Given the description of an element on the screen output the (x, y) to click on. 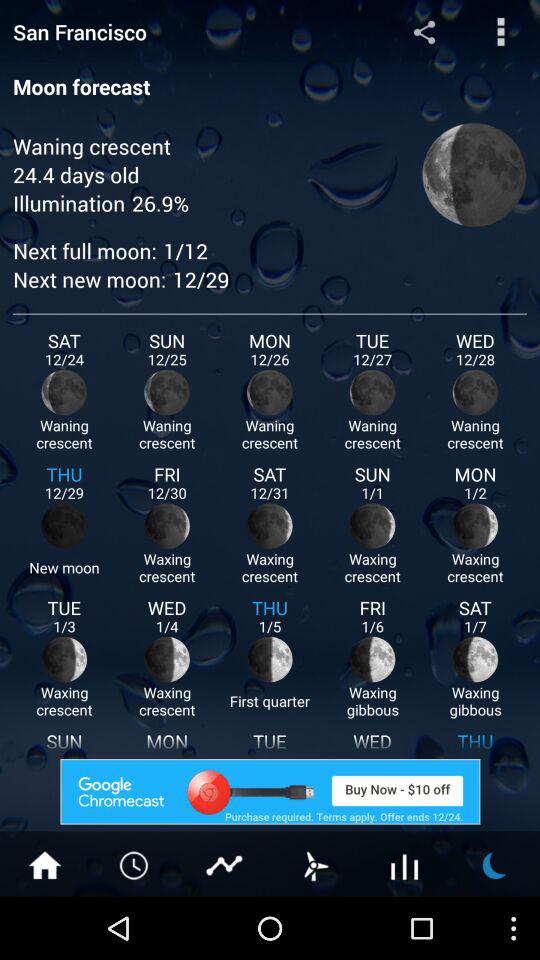
go to the advertised site (270, 791)
